Given the description of an element on the screen output the (x, y) to click on. 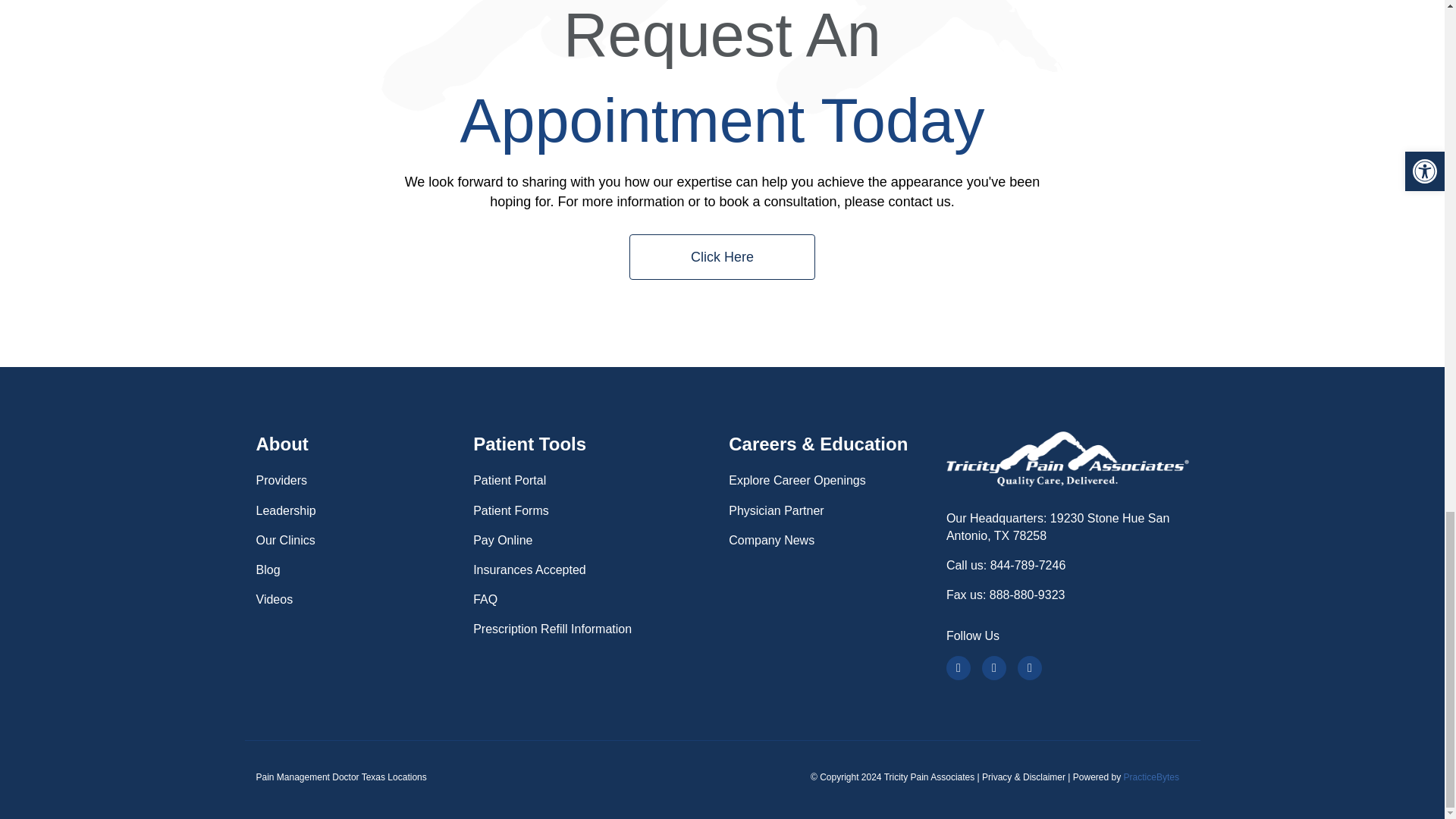
Tricity Pain Associates (1067, 458)
